Given the description of an element on the screen output the (x, y) to click on. 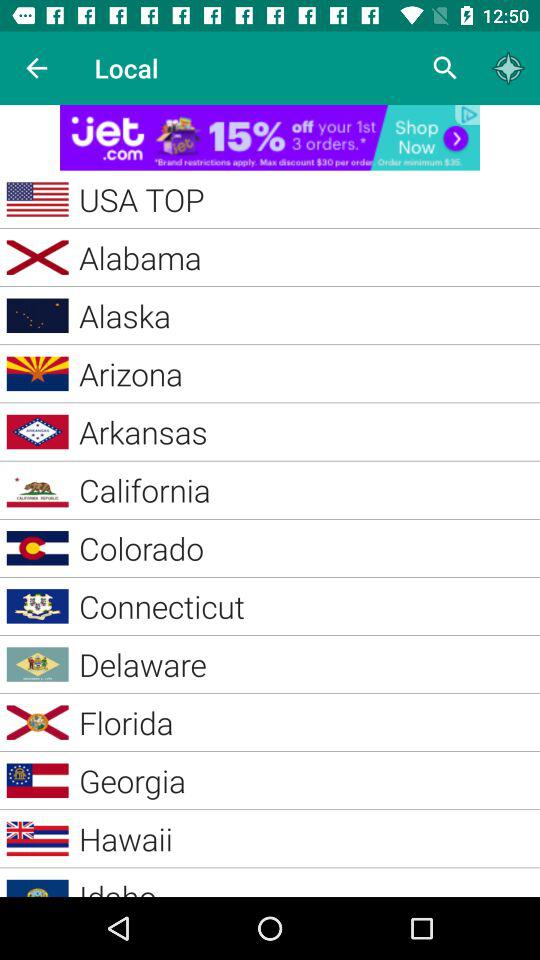
click advertisement (270, 137)
